Given the description of an element on the screen output the (x, y) to click on. 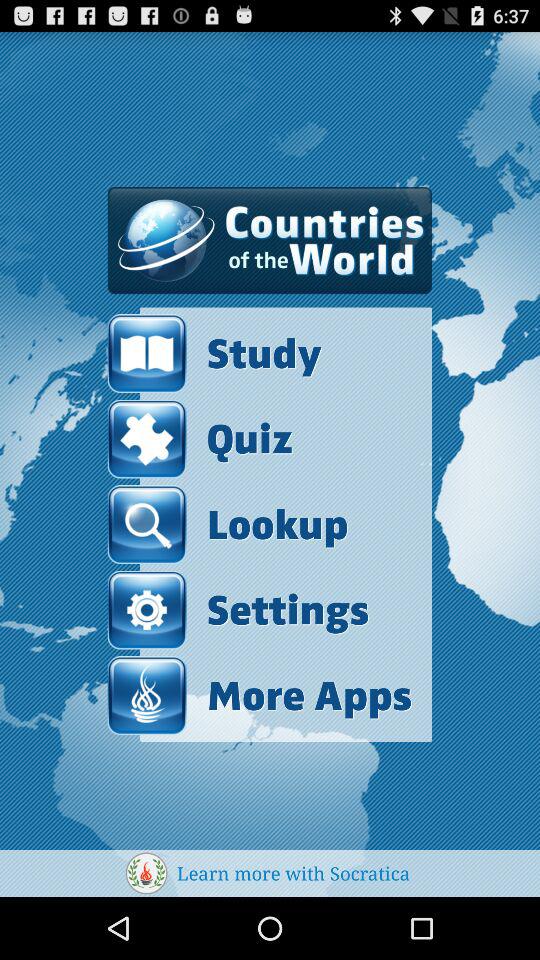
swipe to quiz icon (199, 438)
